Given the description of an element on the screen output the (x, y) to click on. 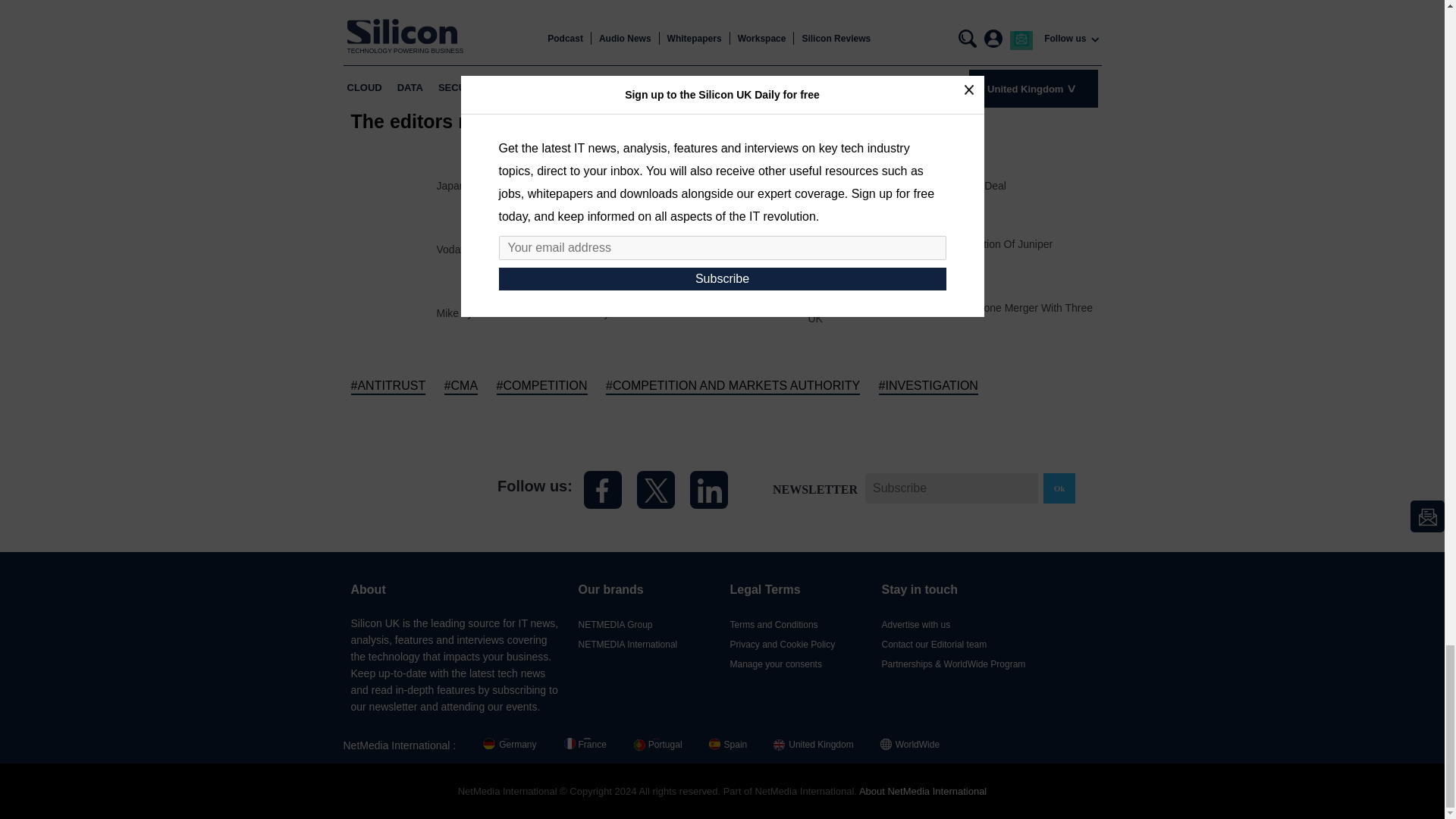
Vodafone, Virgin Media O2 Extend Network Sharing Deal (571, 249)
CMA Begins Phase 2 Probe Of Vodafone Merger With Three UK (951, 312)
Mike Lynch Cleared In HP Autonomy Fraud Trial (549, 312)
Alphabet Walks Away From HubSpot Deal (907, 185)
Silicon UK (408, 489)
